Given the description of an element on the screen output the (x, y) to click on. 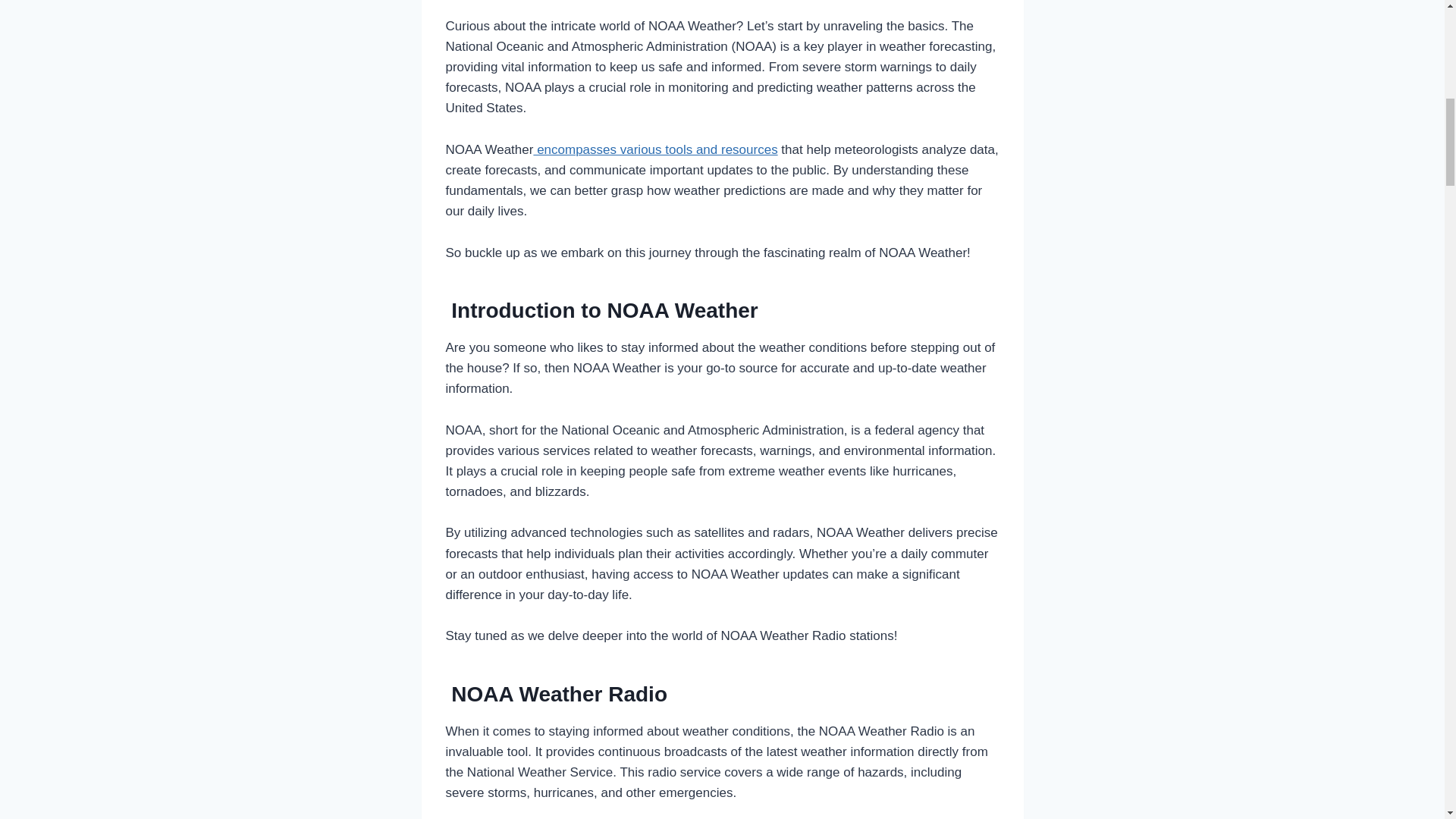
encompasses various tools and resources (654, 149)
